Given the description of an element on the screen output the (x, y) to click on. 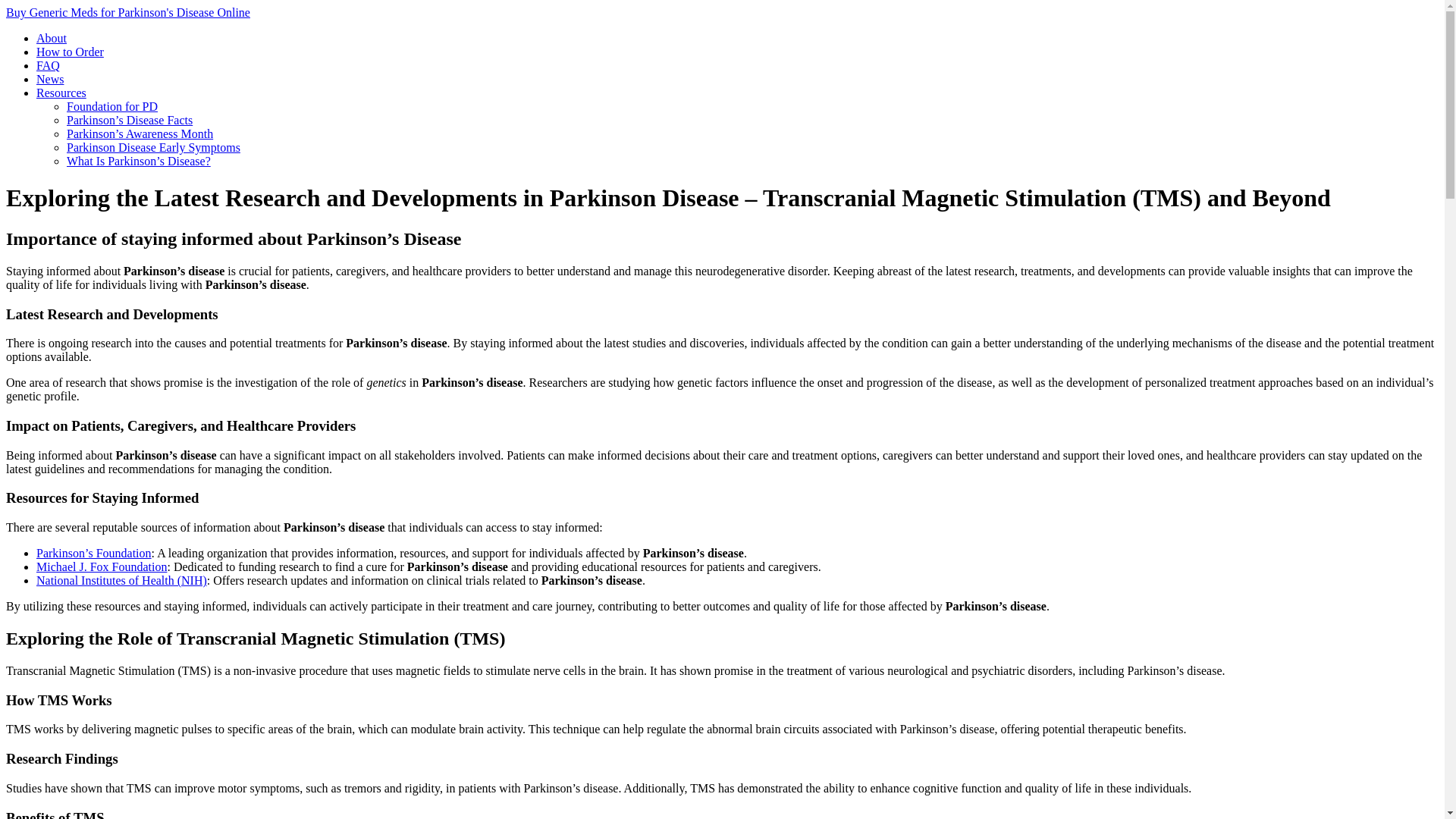
Buy Generic Meds for Parkinson's Disease Online (127, 11)
About (51, 38)
Michael J. Fox Foundation (101, 566)
Foundation for PD (111, 106)
Buy Generic Meds for Parkinson's Disease Online (127, 11)
Parkinson Disease Early Symptoms (153, 146)
Resources (60, 92)
News (50, 78)
FAQ (47, 65)
How to Order (69, 51)
